Given the description of an element on the screen output the (x, y) to click on. 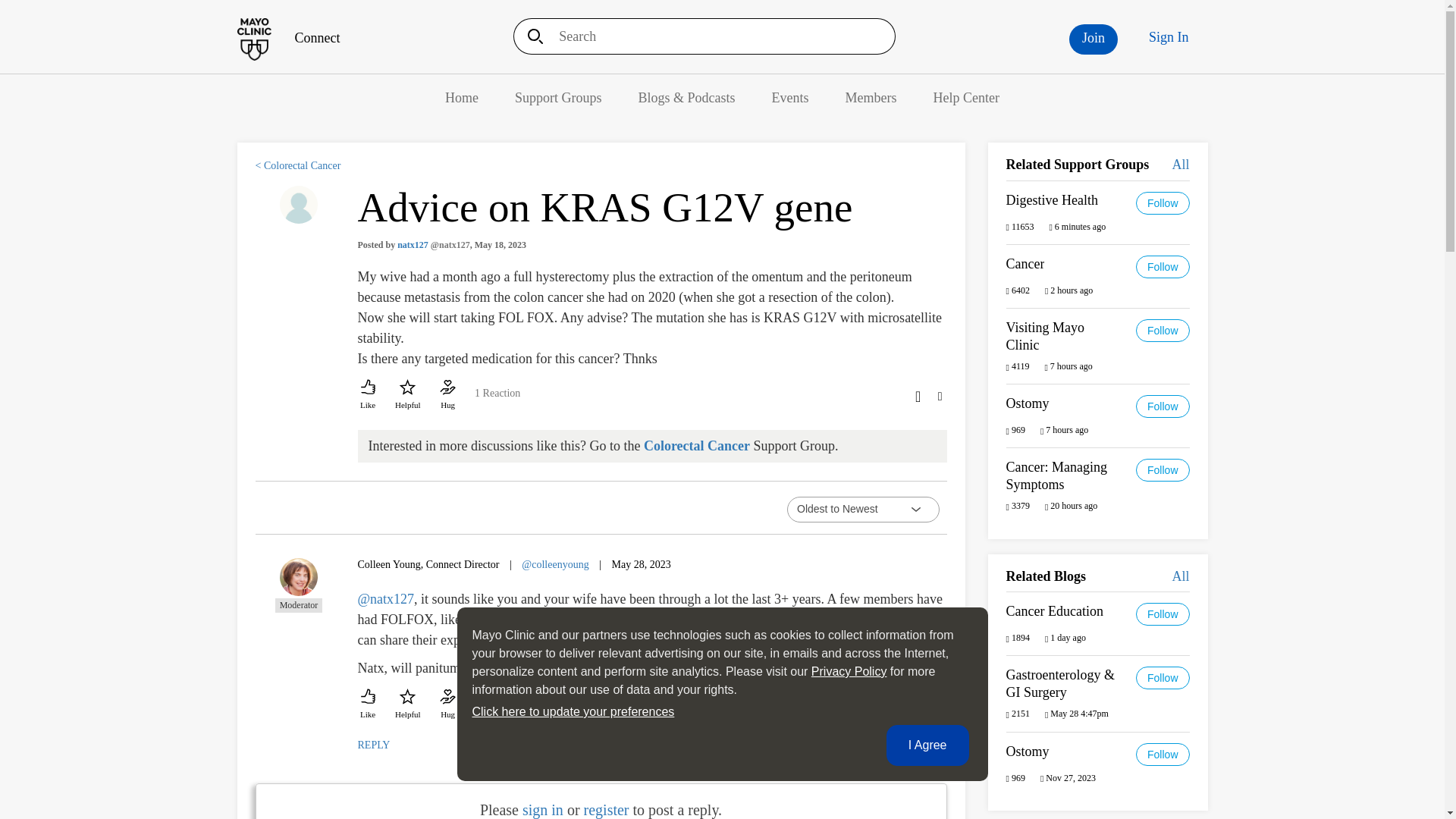
Home (462, 97)
Members (870, 97)
Events (790, 97)
Support Groups (558, 97)
Colorectal Cancer (696, 445)
Events (790, 97)
Home (462, 97)
Join (1093, 39)
1 Reaction (496, 398)
Home (287, 37)
Connect (287, 37)
See who reacted to this discussion (496, 398)
Sign In (1169, 37)
Members (870, 97)
Moderator (298, 584)
